Given the description of an element on the screen output the (x, y) to click on. 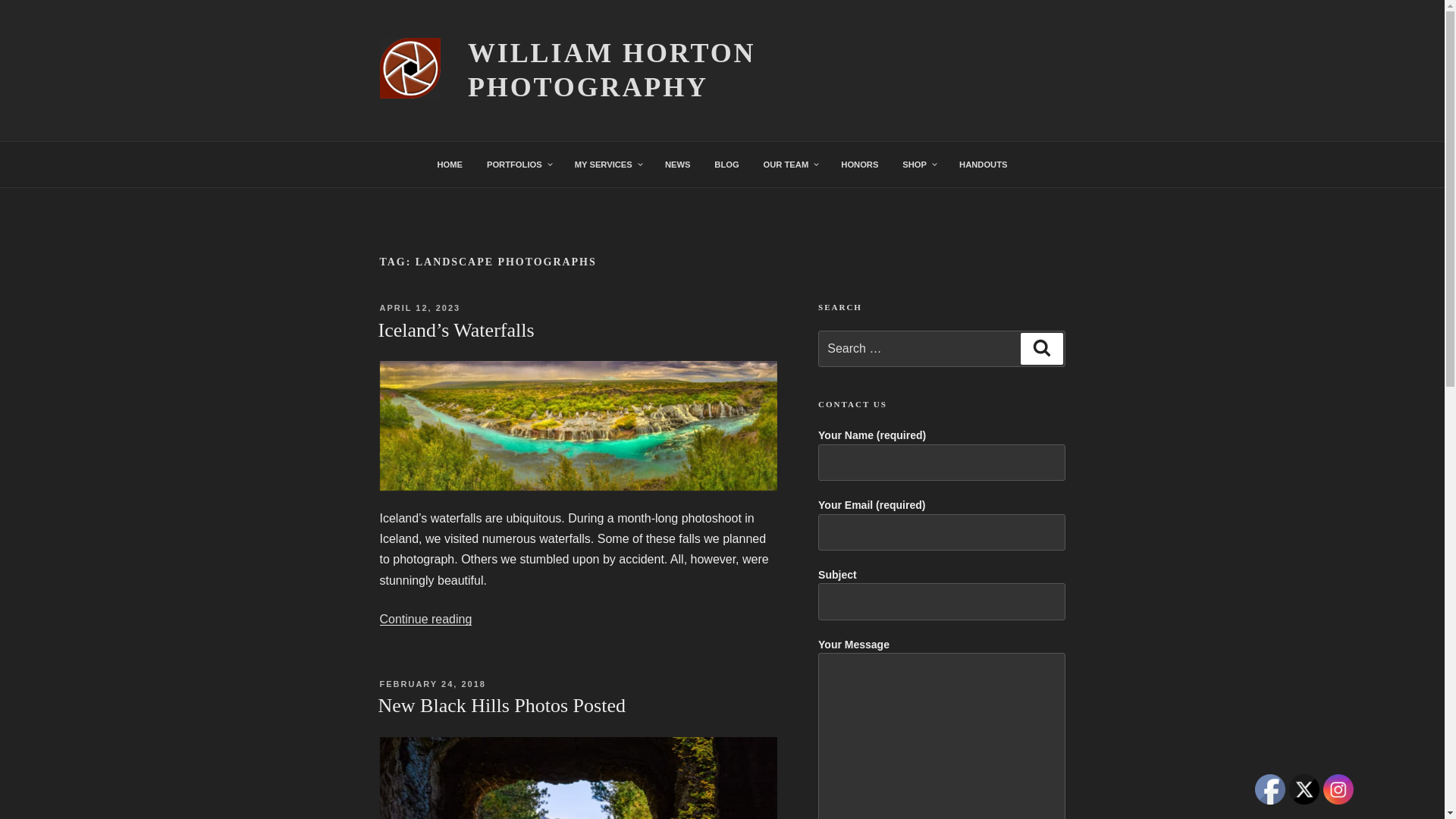
Twitter (1303, 788)
Facebook (1270, 788)
Instagram (1338, 788)
WILLIAM HORTON PHOTOGRAPHY (611, 69)
PORTFOLIOS (518, 164)
HOME (449, 164)
